Given the description of an element on the screen output the (x, y) to click on. 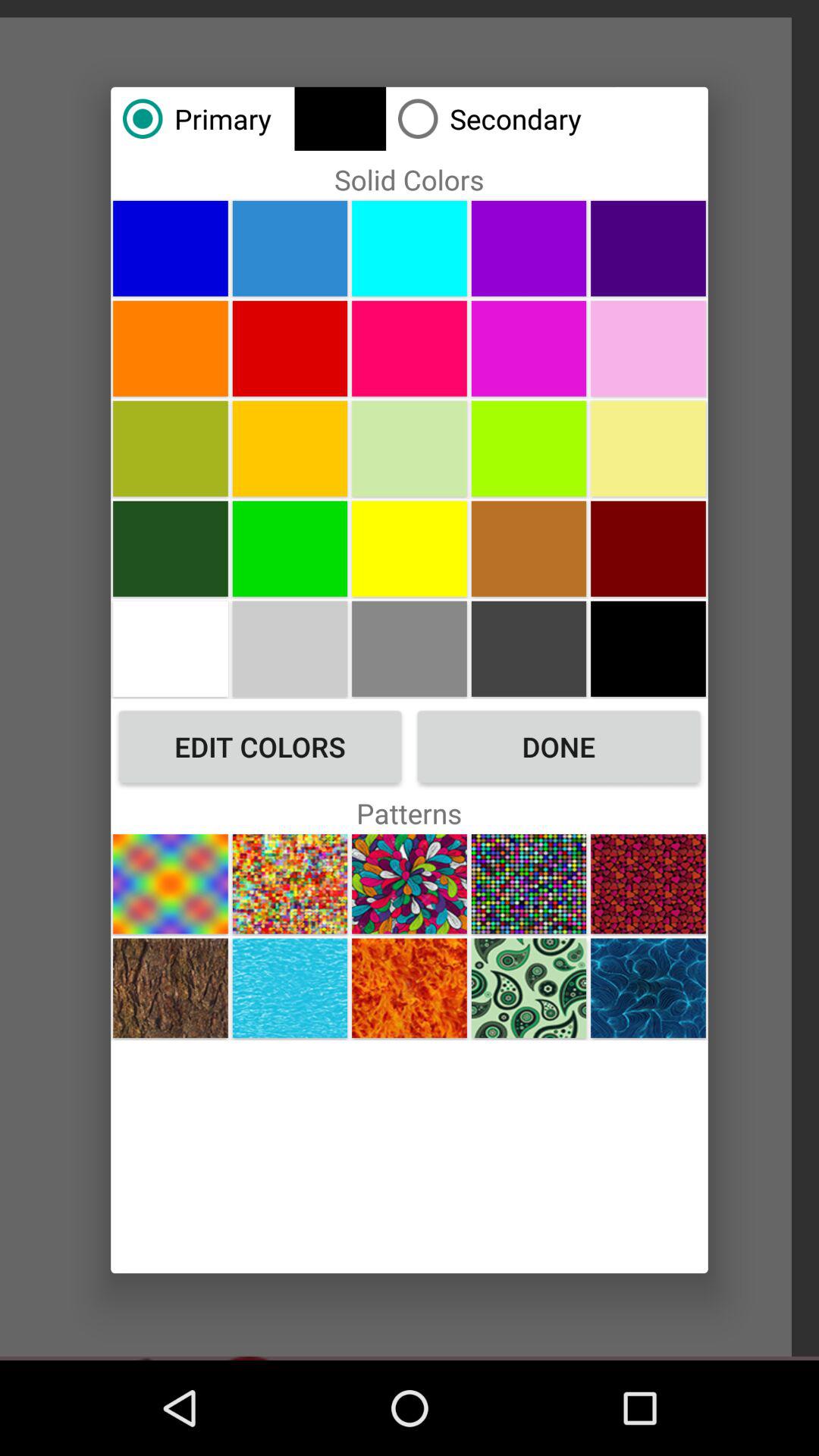
tap the edit colors icon (259, 746)
